Given the description of an element on the screen output the (x, y) to click on. 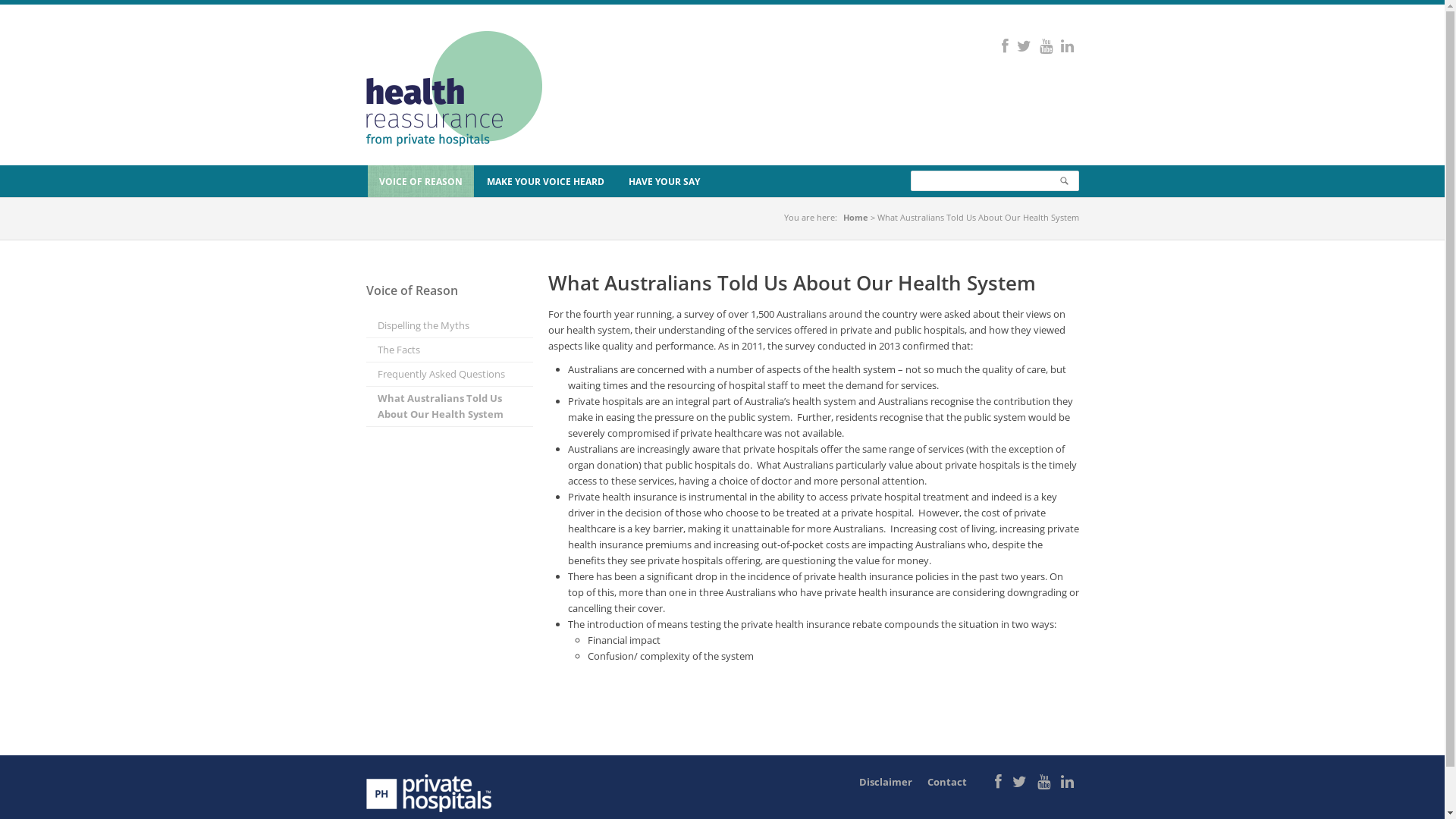
Contact Element type: text (946, 781)
Home Element type: text (855, 216)
Disclaimer Element type: text (884, 781)
What Australians Told Us About Our Health System Element type: text (448, 406)
VOICE OF REASON Element type: text (420, 181)
Dispelling the Myths Element type: text (448, 325)
MAKE YOUR VOICE HEARD Element type: text (544, 181)
HAVE YOUR SAY Element type: text (663, 181)
The Facts Element type: text (448, 349)
Frequently Asked Questions Element type: text (448, 374)
